Given the description of an element on the screen output the (x, y) to click on. 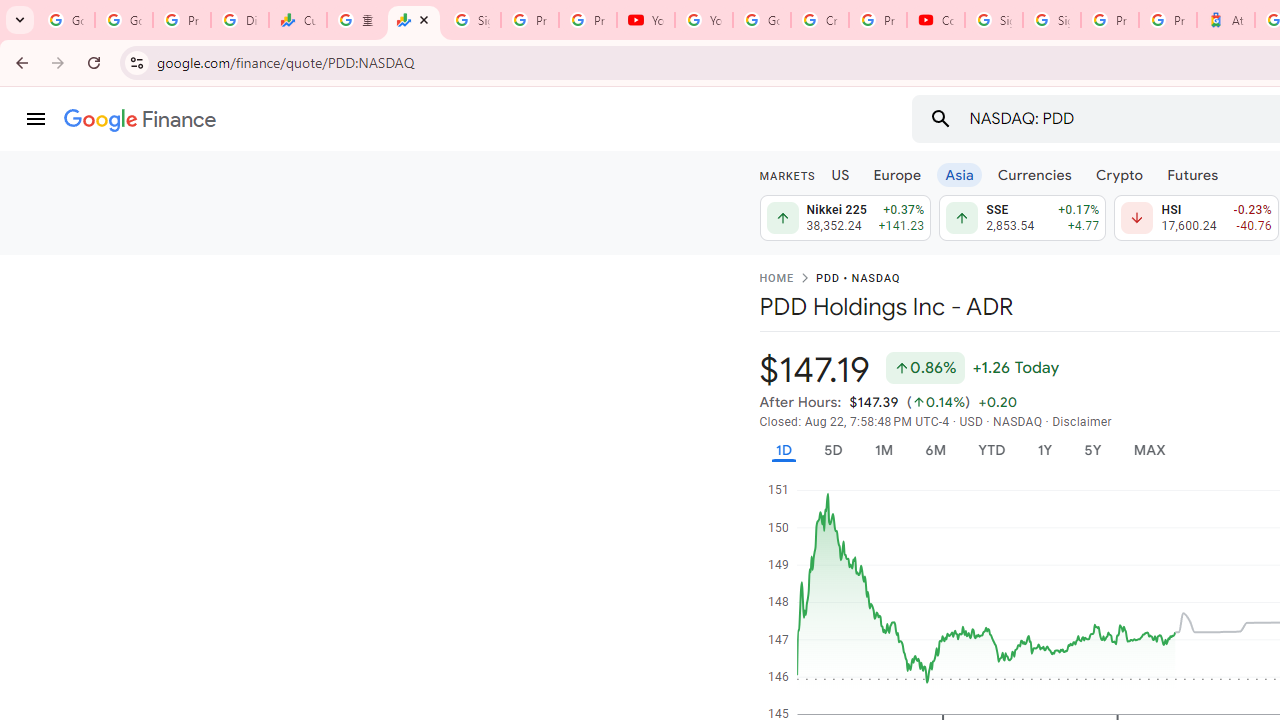
HOME (776, 279)
Privacy Checkup (587, 20)
5D (832, 449)
SSE 2,853.54 Up by 0.28% +4.77 (1023, 218)
Sign in - Google Accounts (471, 20)
YTD (991, 449)
Futures (1192, 174)
